Given the description of an element on the screen output the (x, y) to click on. 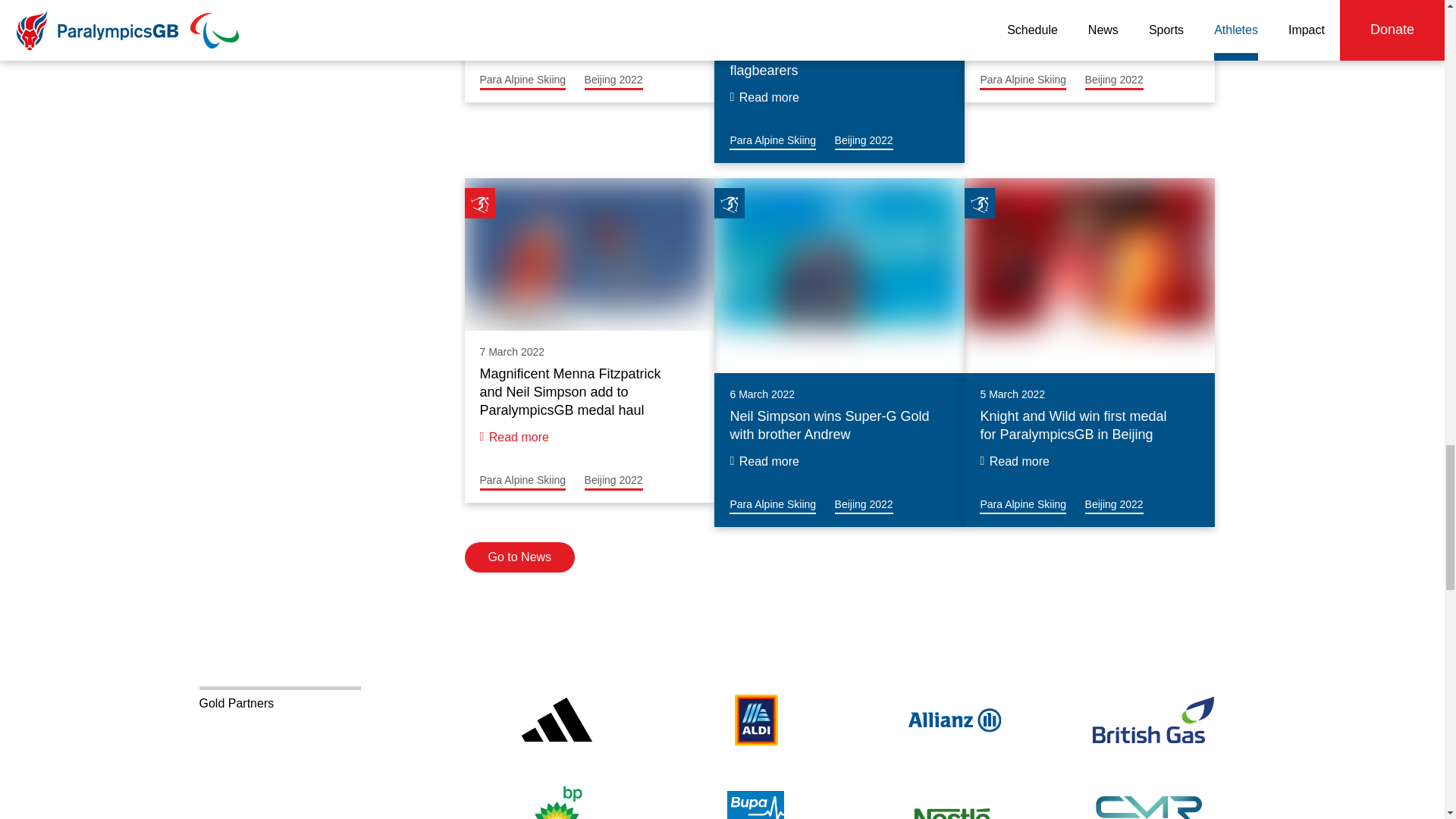
Adidas (555, 720)
Simpsons sign off from unforgettable Beijing 2022 (772, 141)
